Given the description of an element on the screen output the (x, y) to click on. 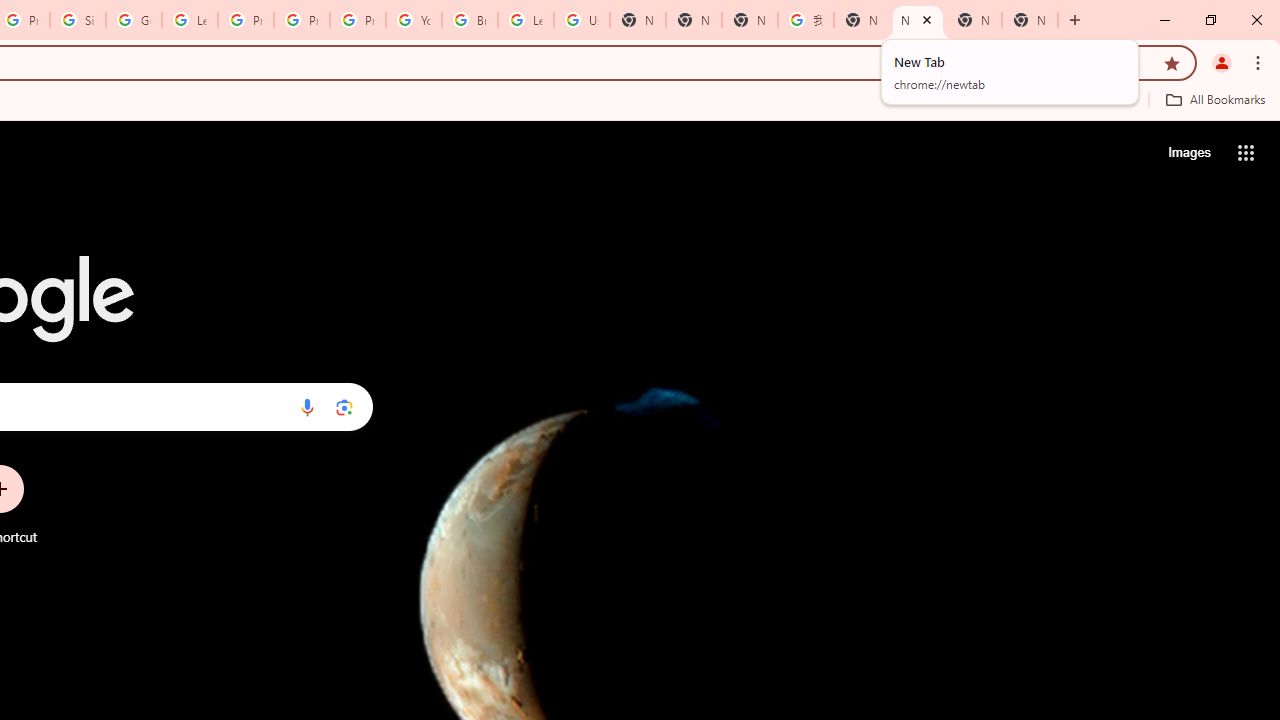
YouTube (413, 20)
Sign in - Google Accounts (77, 20)
Privacy Help Center - Policies Help (245, 20)
New Tab (693, 20)
